Given the description of an element on the screen output the (x, y) to click on. 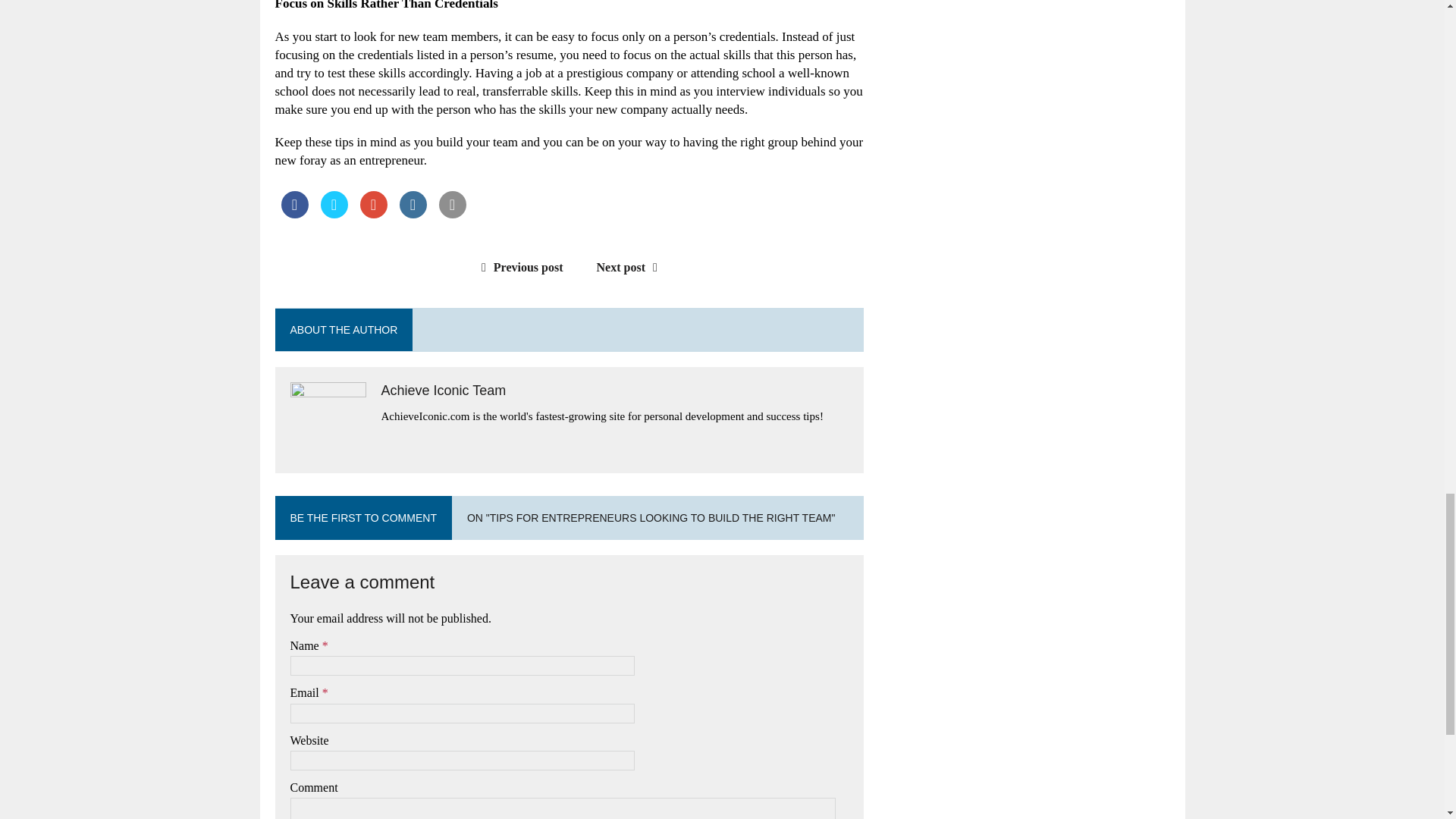
Previous post (518, 267)
Achieve Iconic Team (442, 390)
Next post (630, 267)
